Given the description of an element on the screen output the (x, y) to click on. 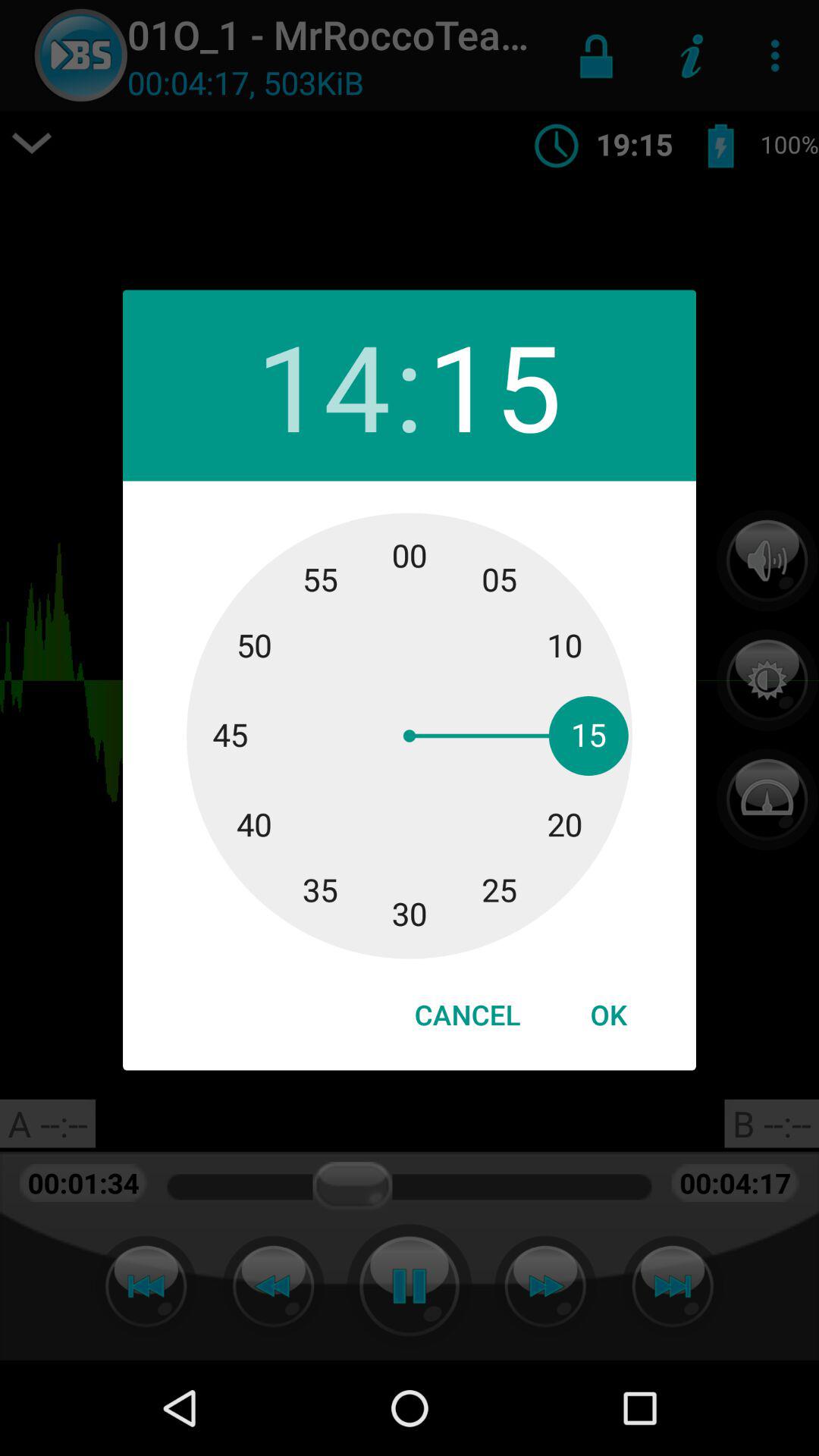
scroll to the ok item (608, 1014)
